Given the description of an element on the screen output the (x, y) to click on. 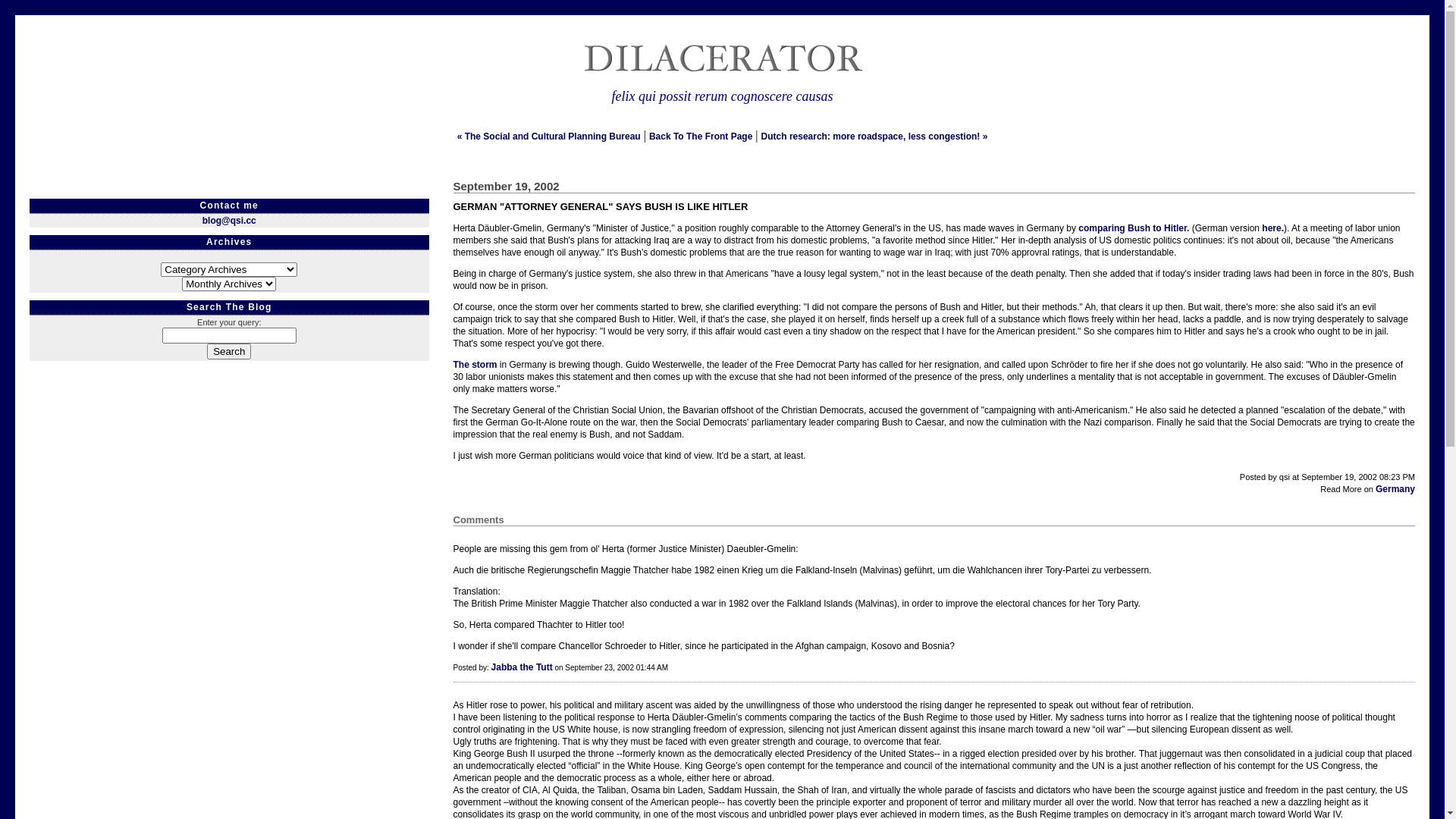
Jabba the Tutt Element type: text (521, 667)
The storm Element type: text (475, 364)
blog@qsi.cc Element type: text (229, 220)
Search Element type: text (229, 351)
comparing Bush to Hitler. Element type: text (1133, 227)
Germany Element type: text (1395, 488)
here. Element type: text (1272, 227)
Back To The Front Page Element type: text (700, 136)
